Given the description of an element on the screen output the (x, y) to click on. 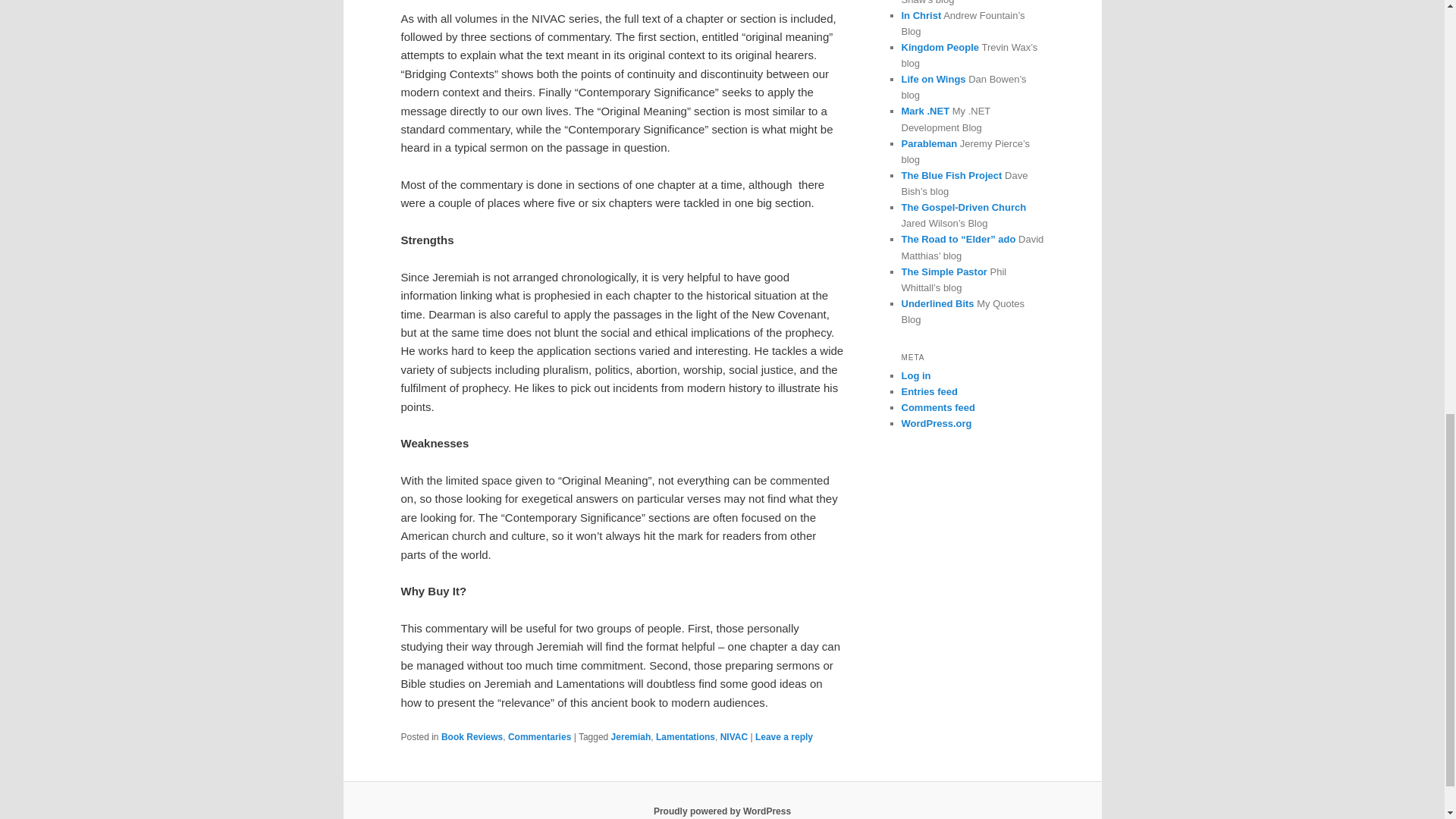
NIVAC (734, 737)
Jeremiah (630, 737)
Kingdom People (939, 47)
Book Reviews (471, 737)
My .NET Development Blog (925, 111)
My Quotes Blog (937, 303)
Mark .NET (925, 111)
Commentaries (539, 737)
Parableman (928, 143)
Lamentations (685, 737)
